Given the description of an element on the screen output the (x, y) to click on. 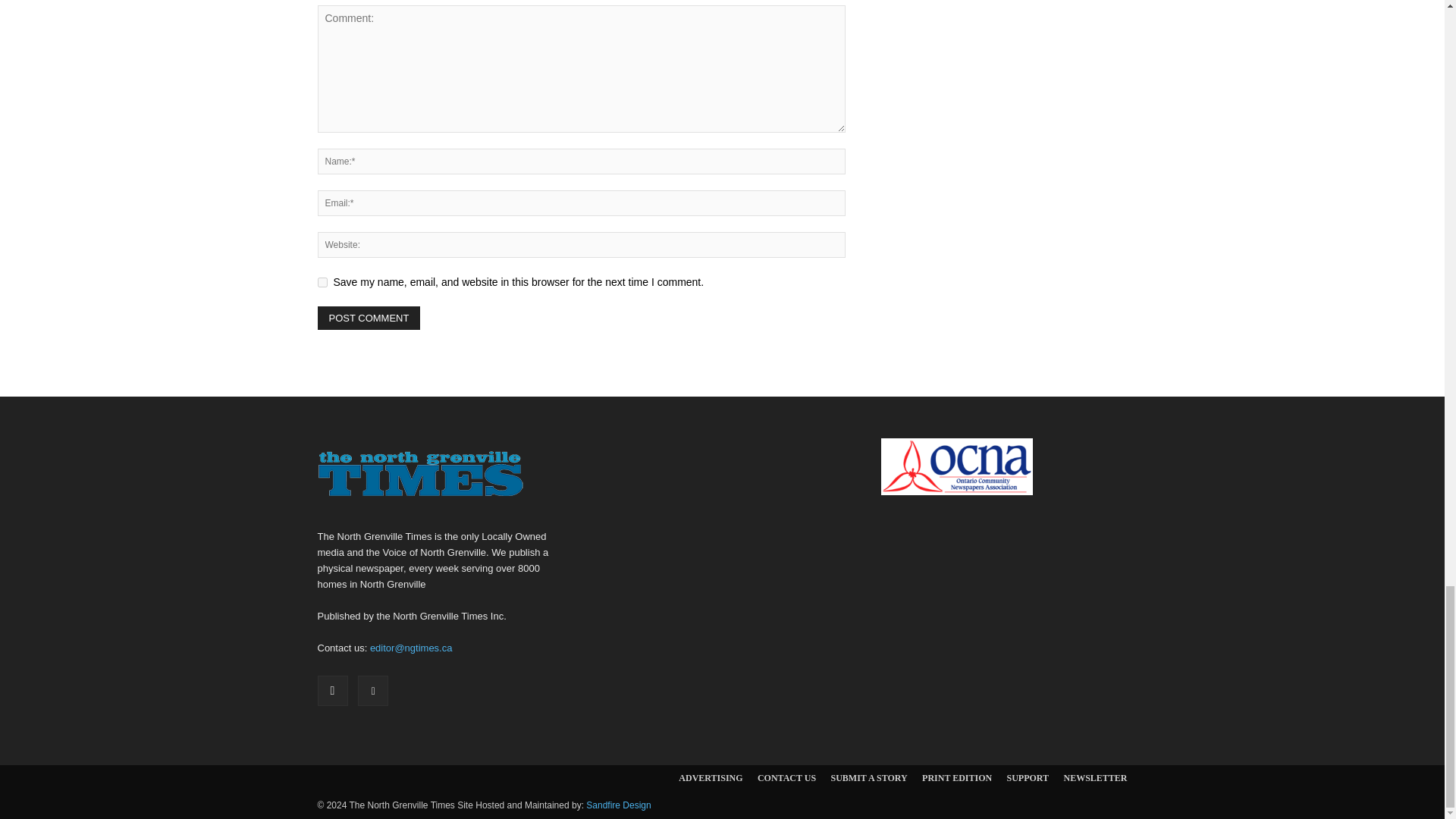
Post Comment (368, 318)
yes (321, 282)
